Given the description of an element on the screen output the (x, y) to click on. 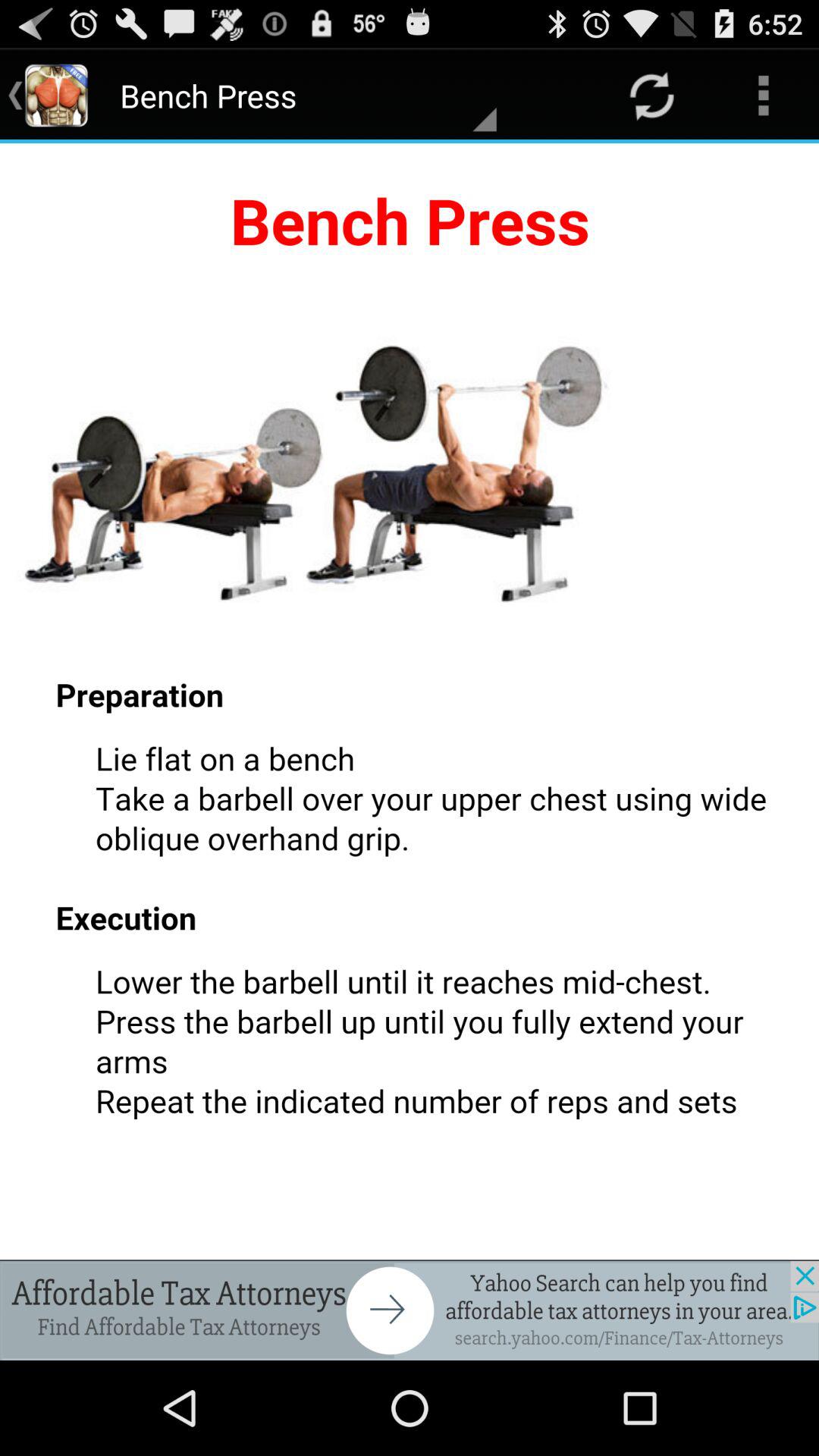
connect to link (409, 1310)
